Given the description of an element on the screen output the (x, y) to click on. 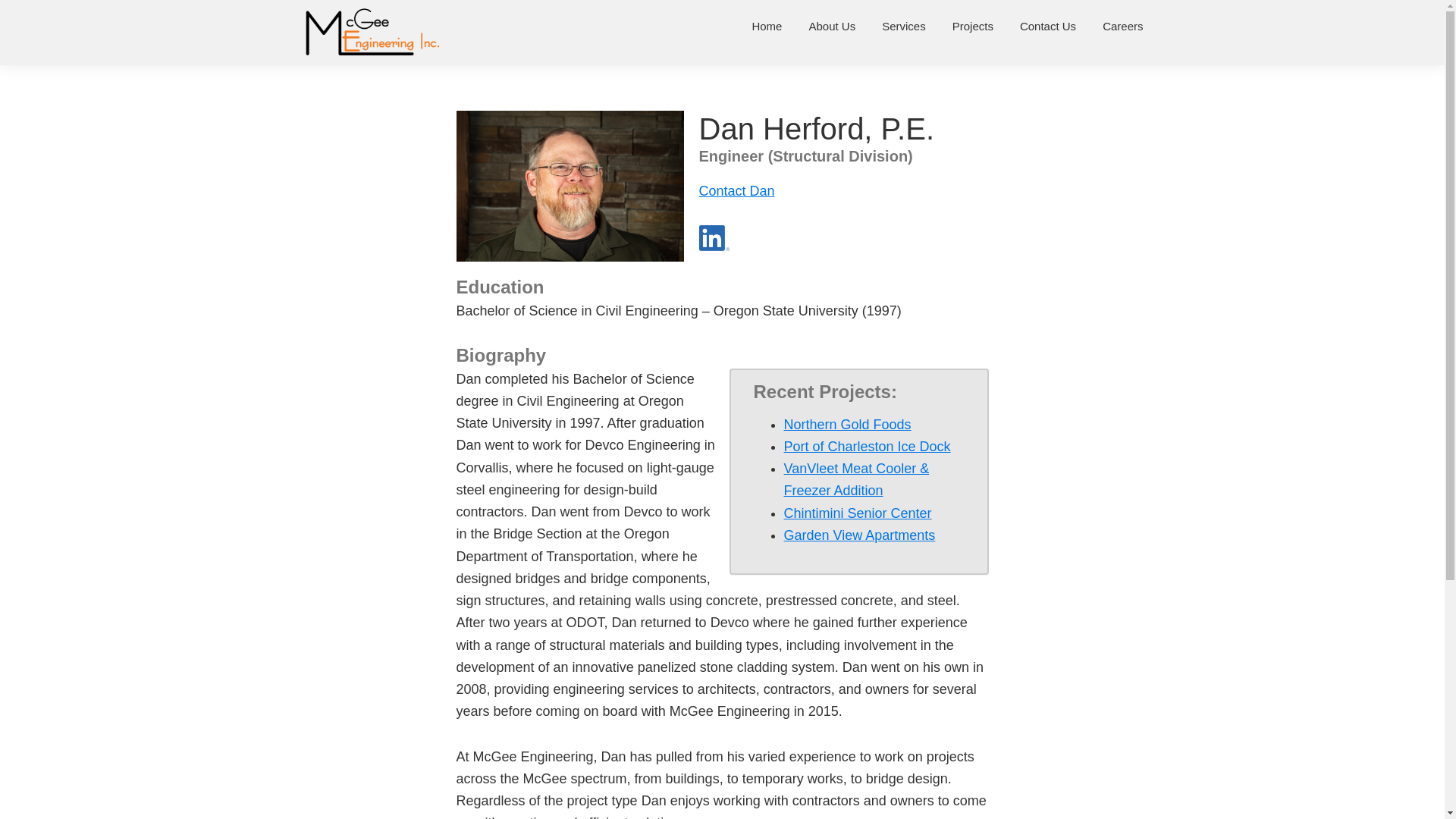
Northern Gold Foods (847, 424)
Contact Dan (736, 191)
Home (766, 25)
Chintimini Senior Center (857, 513)
About Us (831, 25)
Services (903, 25)
Projects (972, 25)
Contact Us (1048, 25)
Garden View Apartments (860, 534)
